Given the description of an element on the screen output the (x, y) to click on. 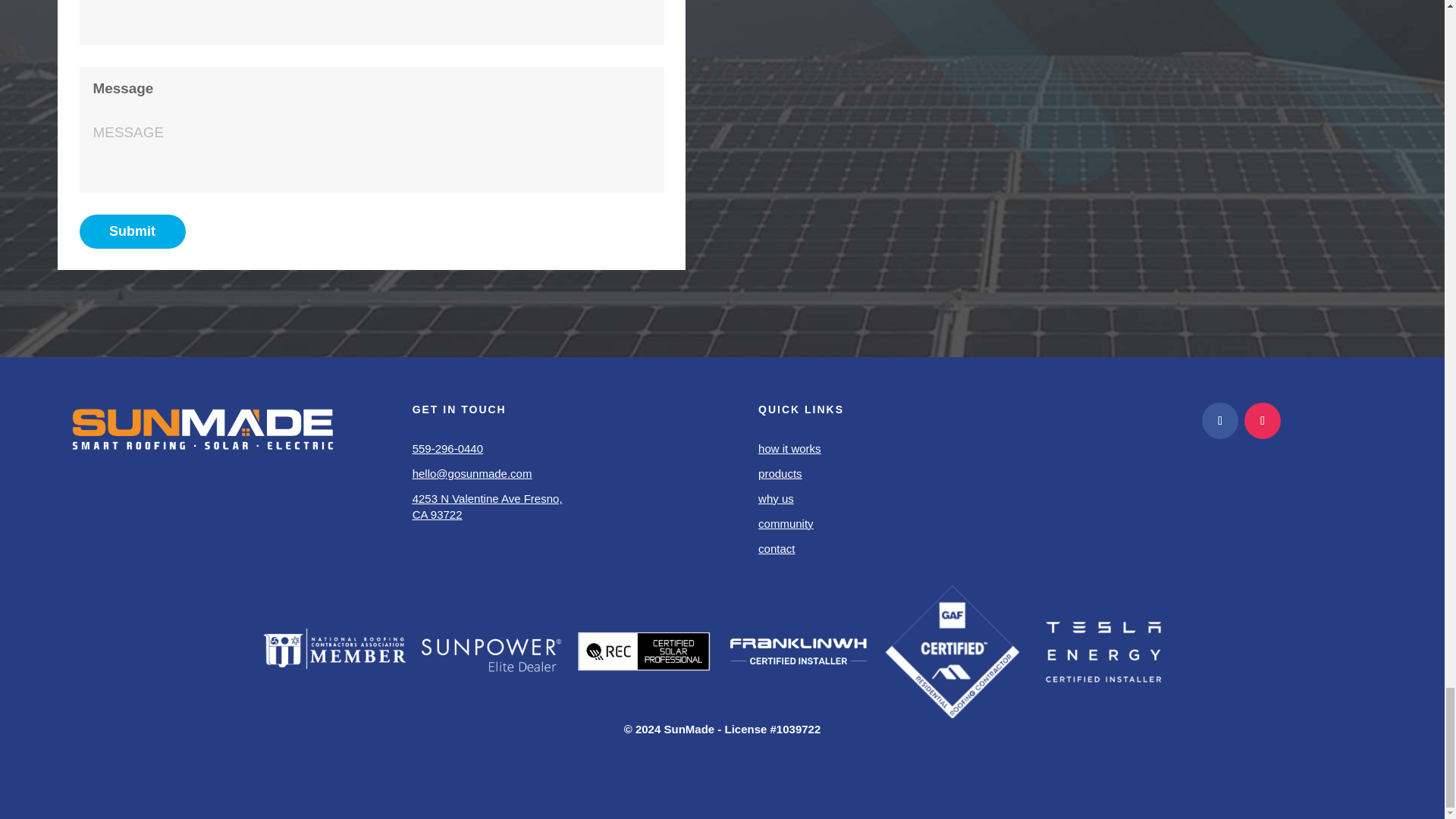
contact (776, 548)
559-296-0440 (447, 448)
why us (775, 498)
community (785, 522)
products (780, 472)
Follow on Instagram (1262, 420)
Submit (133, 231)
Follow on Facebook (1220, 420)
4253 N Valentine Ave Fresno, CA 93722 (487, 506)
how it works (789, 448)
